Given the description of an element on the screen output the (x, y) to click on. 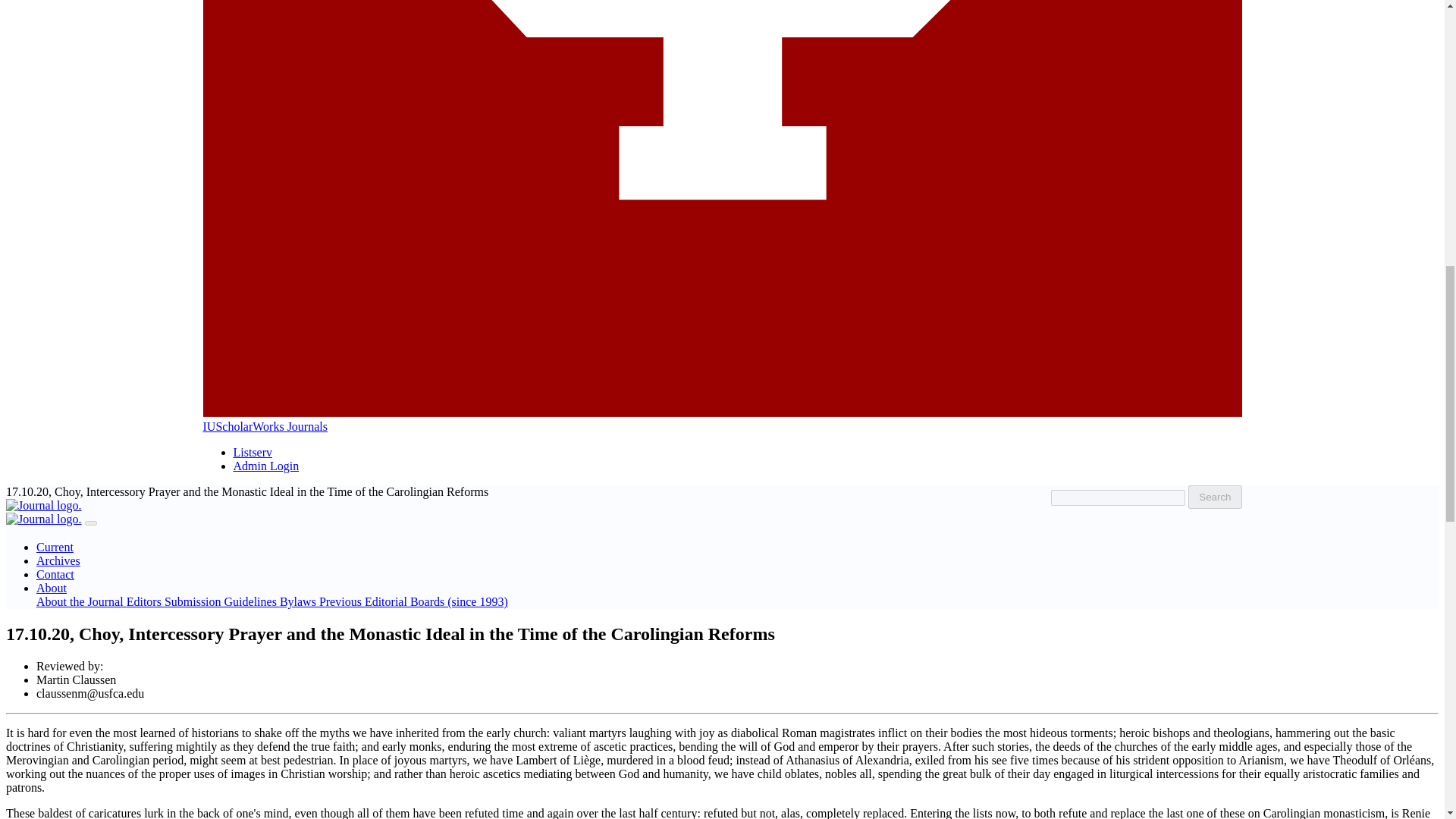
Bylaws (298, 601)
Admin Login (265, 465)
Contact (55, 574)
Archives (58, 560)
Listserv (252, 451)
Submission Guidelines (221, 601)
About (51, 587)
Editors (145, 601)
About the Journal (81, 601)
